Given the description of an element on the screen output the (x, y) to click on. 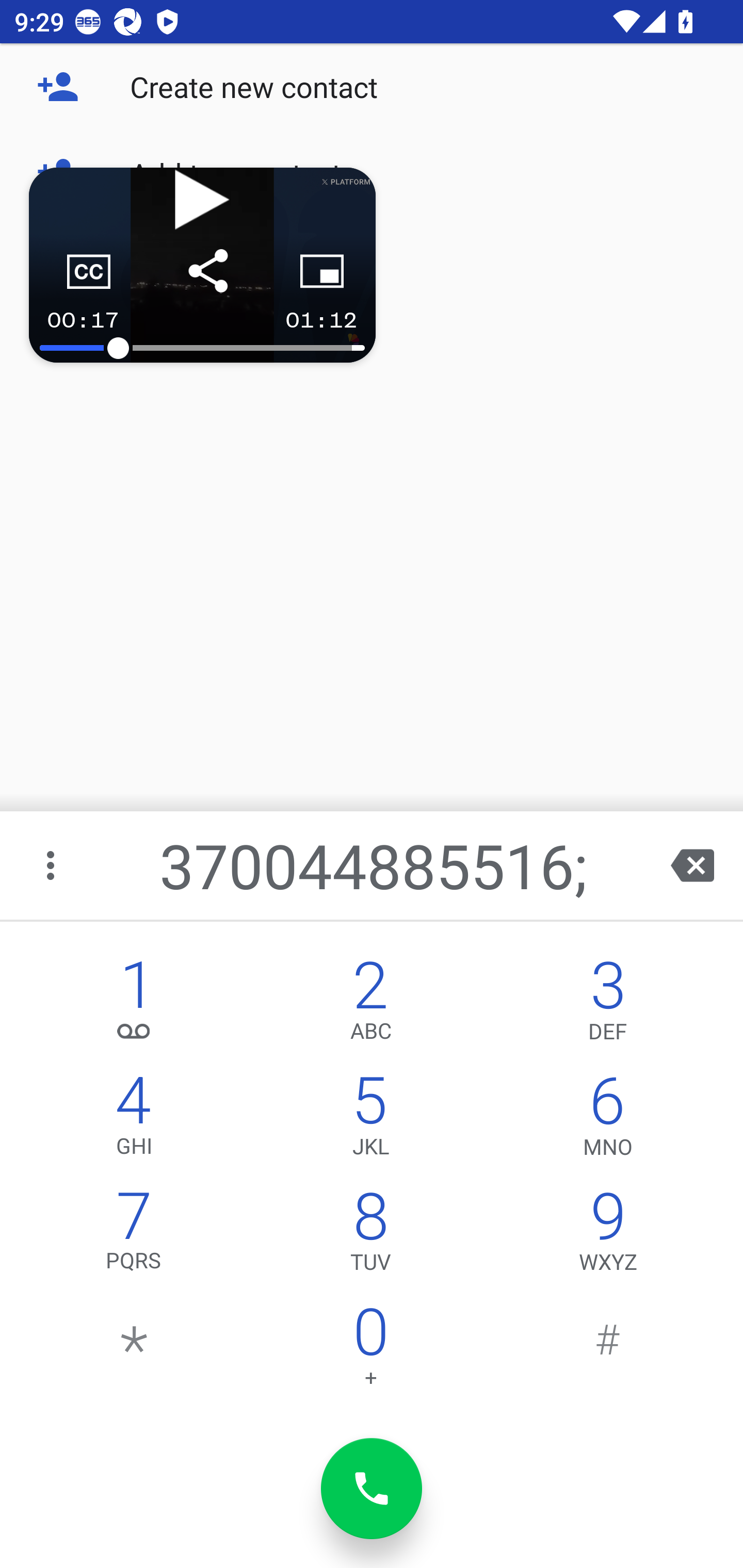
Create new contact (371, 86)
370044885516; (372, 865)
backspace (692, 865)
More options (52, 865)
1, 1 (133, 1005)
2,ABC 2 ABC (370, 1005)
3,DEF 3 DEF (607, 1005)
4,GHI 4 GHI (133, 1120)
5,JKL 5 JKL (370, 1120)
6,MNO 6 MNO (607, 1120)
7,PQRS 7 PQRS (133, 1235)
8,TUV 8 TUV (370, 1235)
9,WXYZ 9 WXYZ (607, 1235)
* (133, 1351)
0 0 + (370, 1351)
# (607, 1351)
dial (371, 1488)
